Given the description of an element on the screen output the (x, y) to click on. 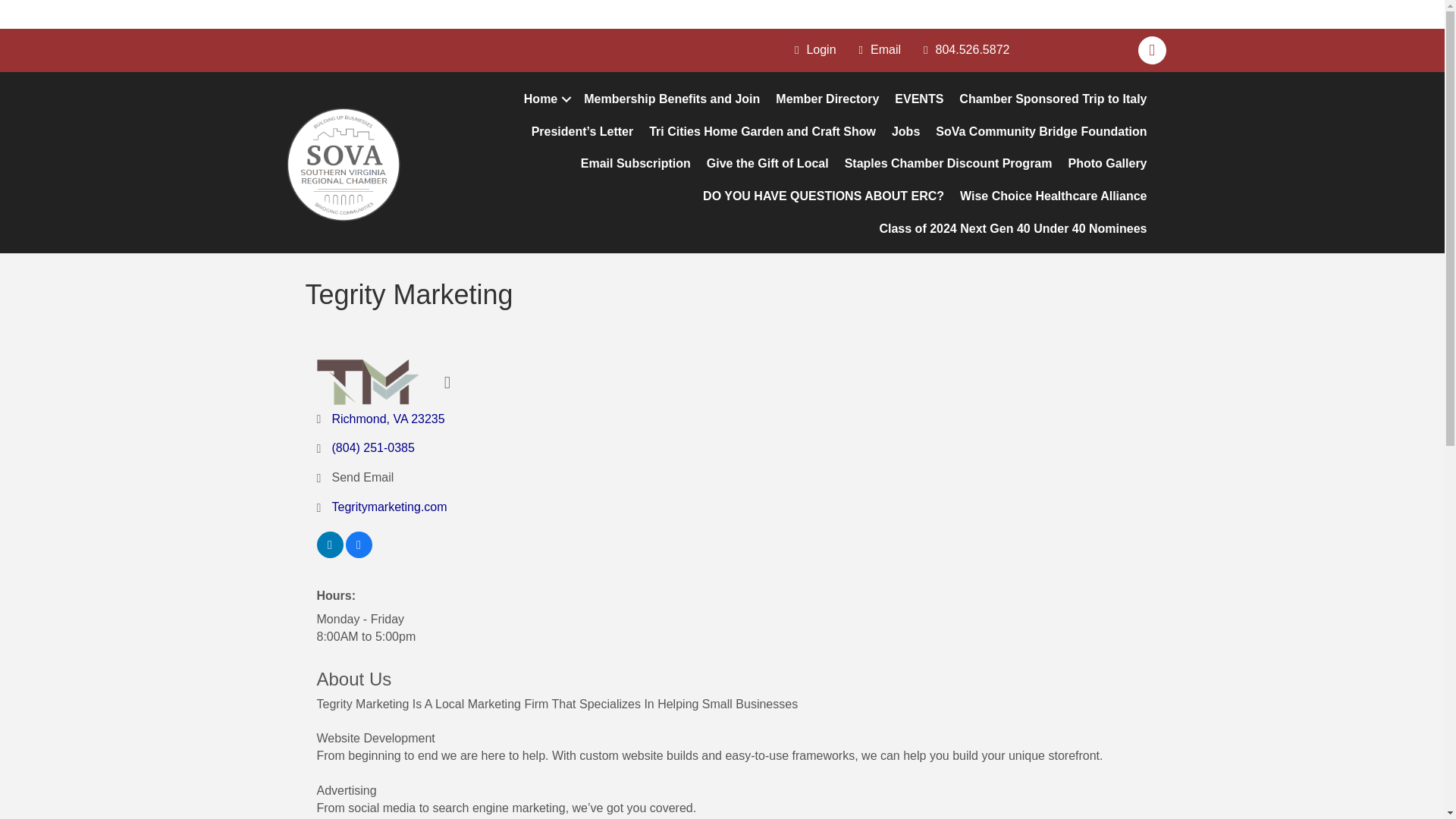
Email (876, 49)
Staples Chamber Discount Program (948, 164)
View on Facebook (359, 553)
Richmond VA 23235 (388, 418)
Jobs (905, 132)
Member Directory (827, 99)
EVENTS (918, 99)
Membership Benefits and Join (671, 99)
Tegrity Marketing (368, 381)
Chamber Sponsored Trip to Italy (1053, 99)
Give the Gift of Local (766, 164)
Photo Gallery (1106, 164)
Class of 2024 Next Gen 40 Under 40 Nominees (1012, 228)
Wise Choice Healthcare Alliance (1053, 196)
DO YOU HAVE QUESTIONS ABOUT ERC? (823, 196)
